Given the description of an element on the screen output the (x, y) to click on. 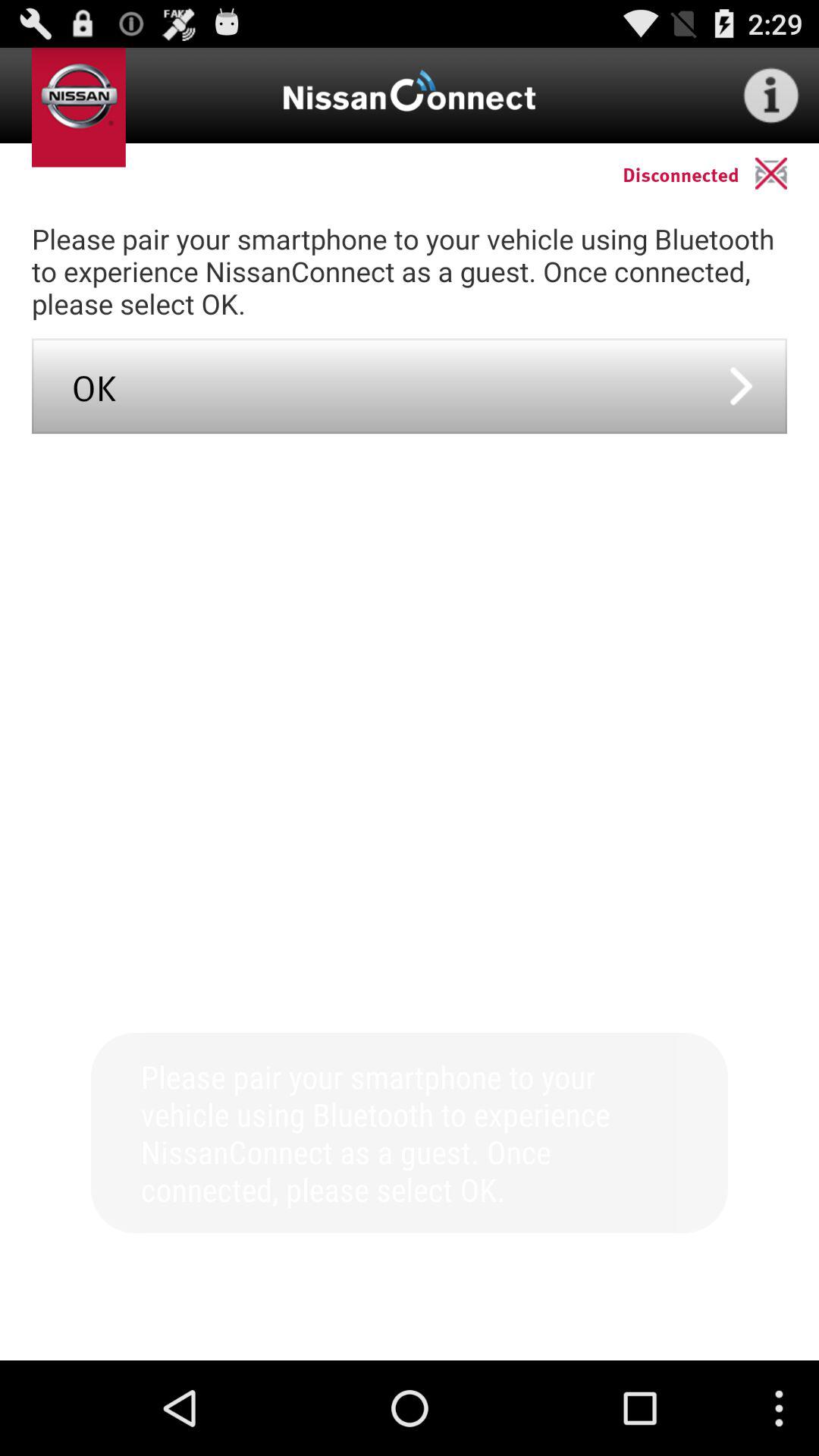
open icon above please pair your icon (787, 173)
